Given the description of an element on the screen output the (x, y) to click on. 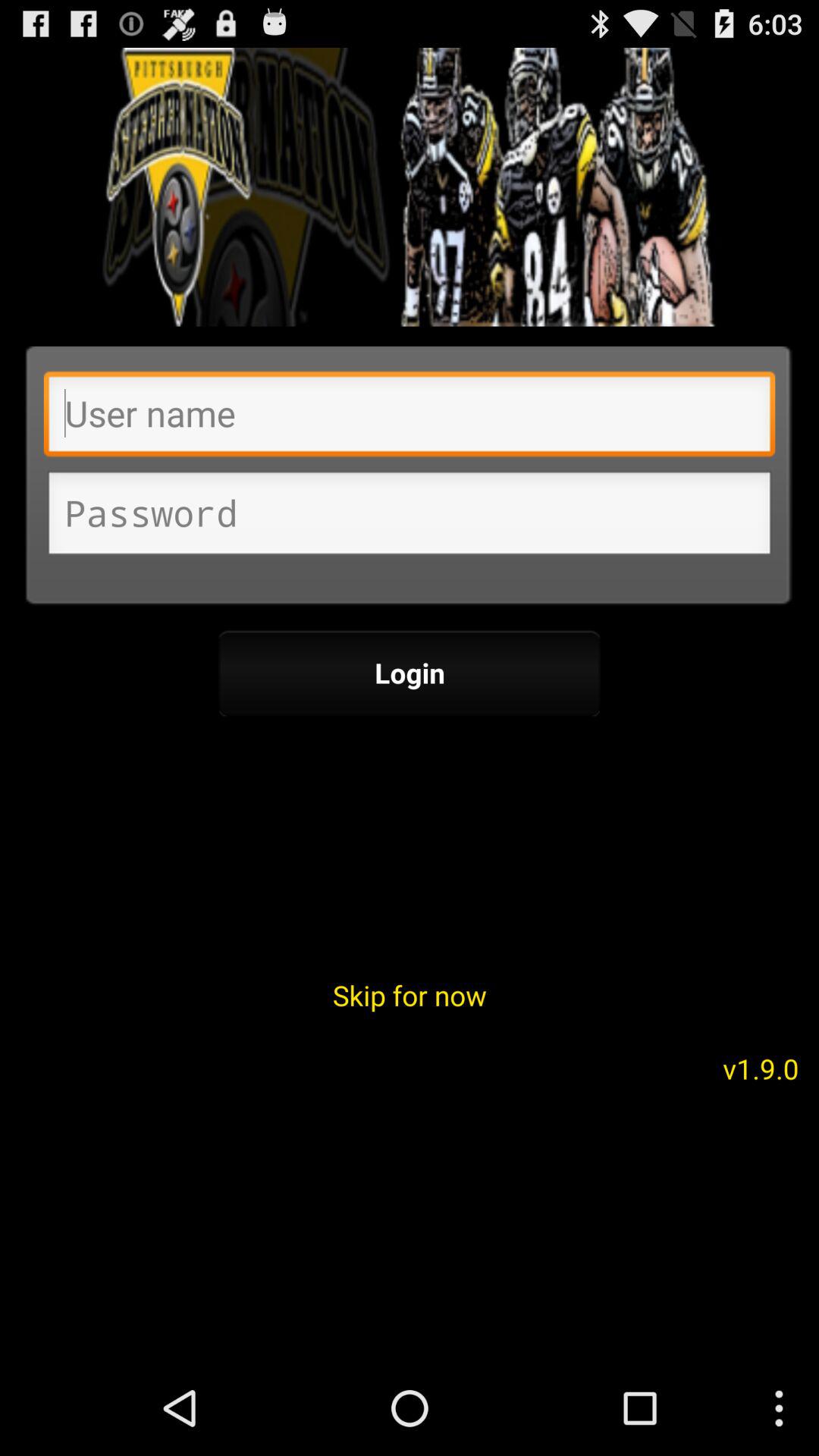
open skip for now app (409, 995)
